Given the description of an element on the screen output the (x, y) to click on. 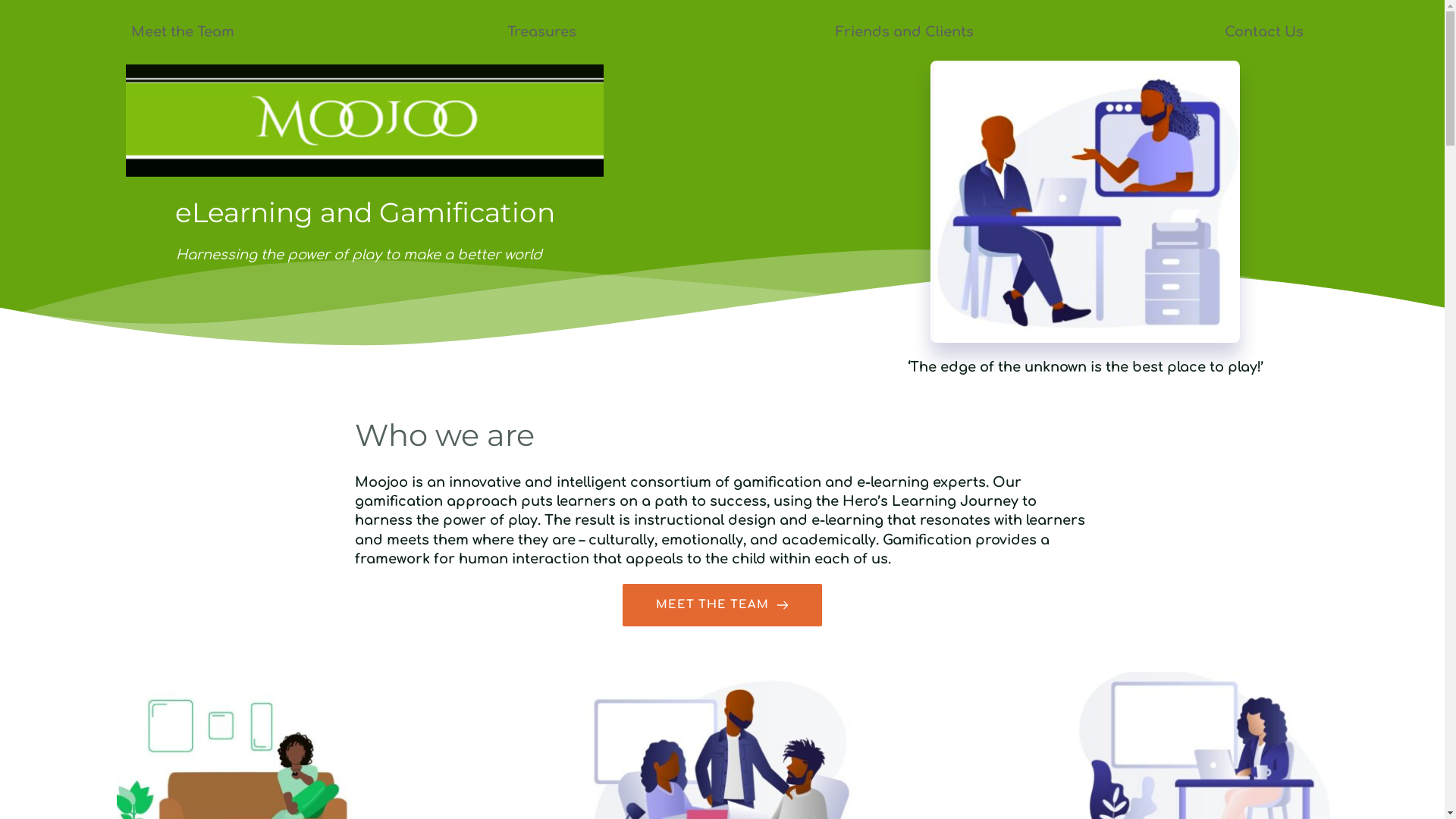
Treasures Element type: text (541, 31)
Contact Us Element type: text (1263, 31)
Meet the Team Element type: text (182, 31)
 Friends and Clients Element type: text (902, 31)
MEET THE TEAM Element type: text (722, 604)
